Given the description of an element on the screen output the (x, y) to click on. 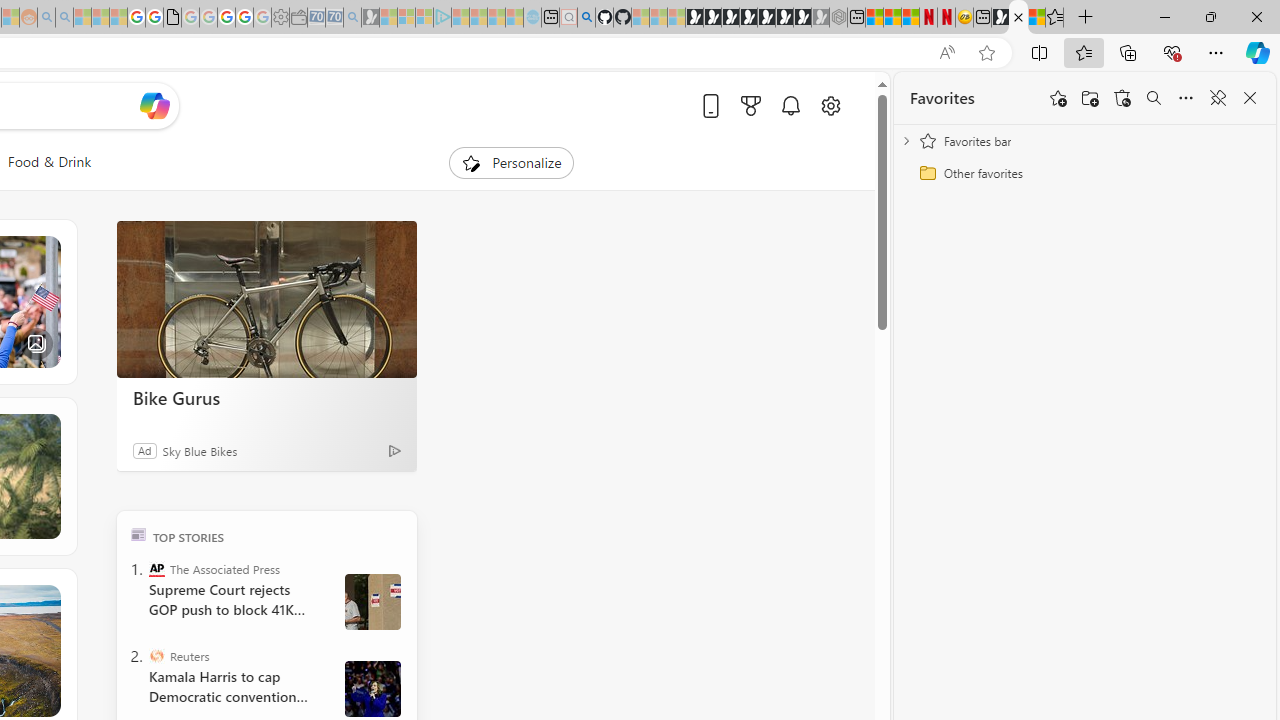
 Harris and Walz campaign in Wisconsin (372, 688)
Add this page to favorites (1058, 98)
Unpin favorites (1217, 98)
github - Search (586, 17)
Reuters (156, 655)
Restore deleted favorites (1122, 98)
